Given the description of an element on the screen output the (x, y) to click on. 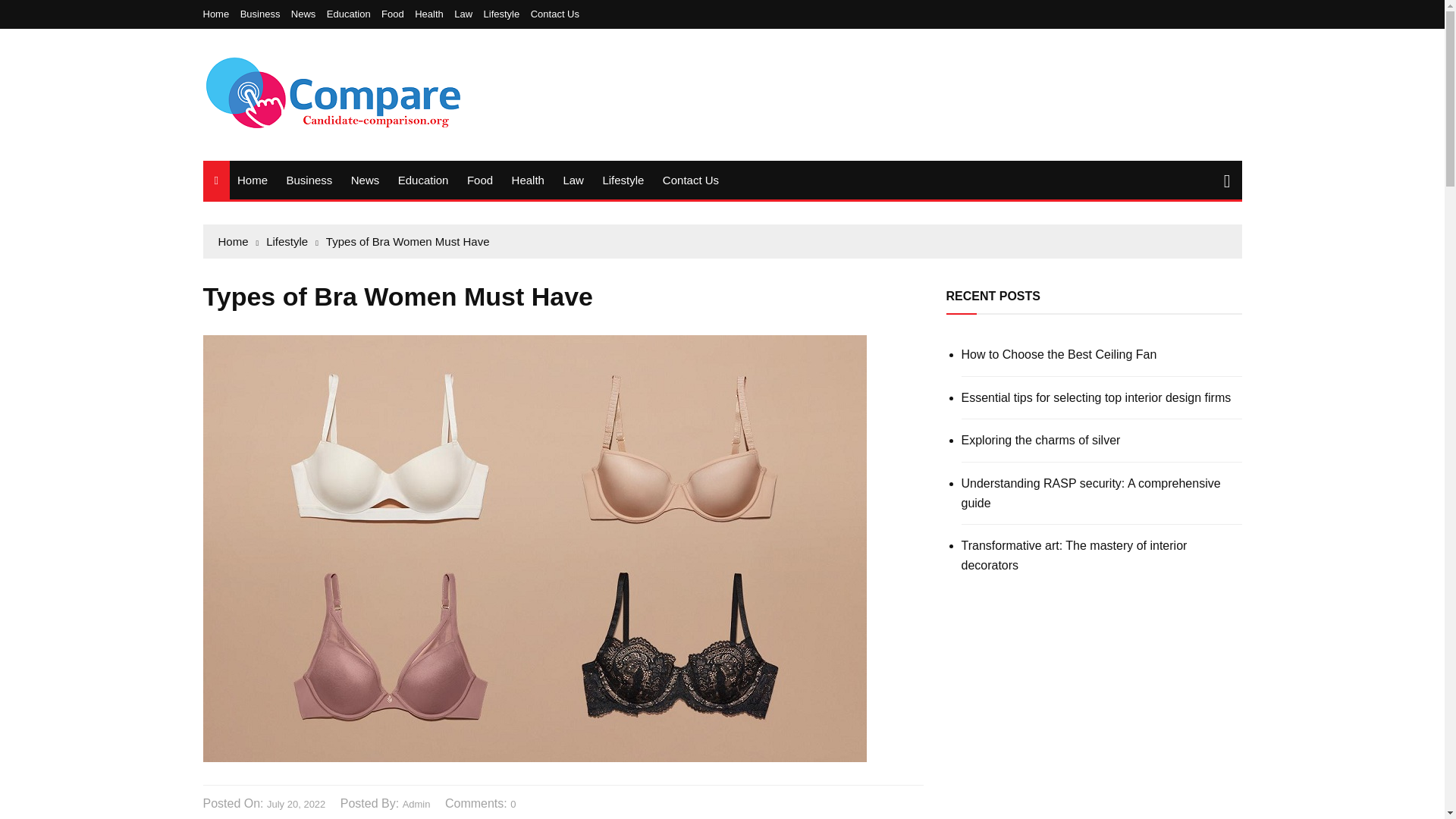
Contact Us (690, 179)
Education (352, 13)
Business (308, 179)
Contact Us (555, 13)
Health (432, 13)
Food (480, 179)
Education (423, 179)
Law (467, 13)
Law (572, 179)
Food (396, 13)
Health (527, 179)
Home (252, 179)
News (365, 179)
Lifestyle (505, 13)
News (307, 13)
